Given the description of an element on the screen output the (x, y) to click on. 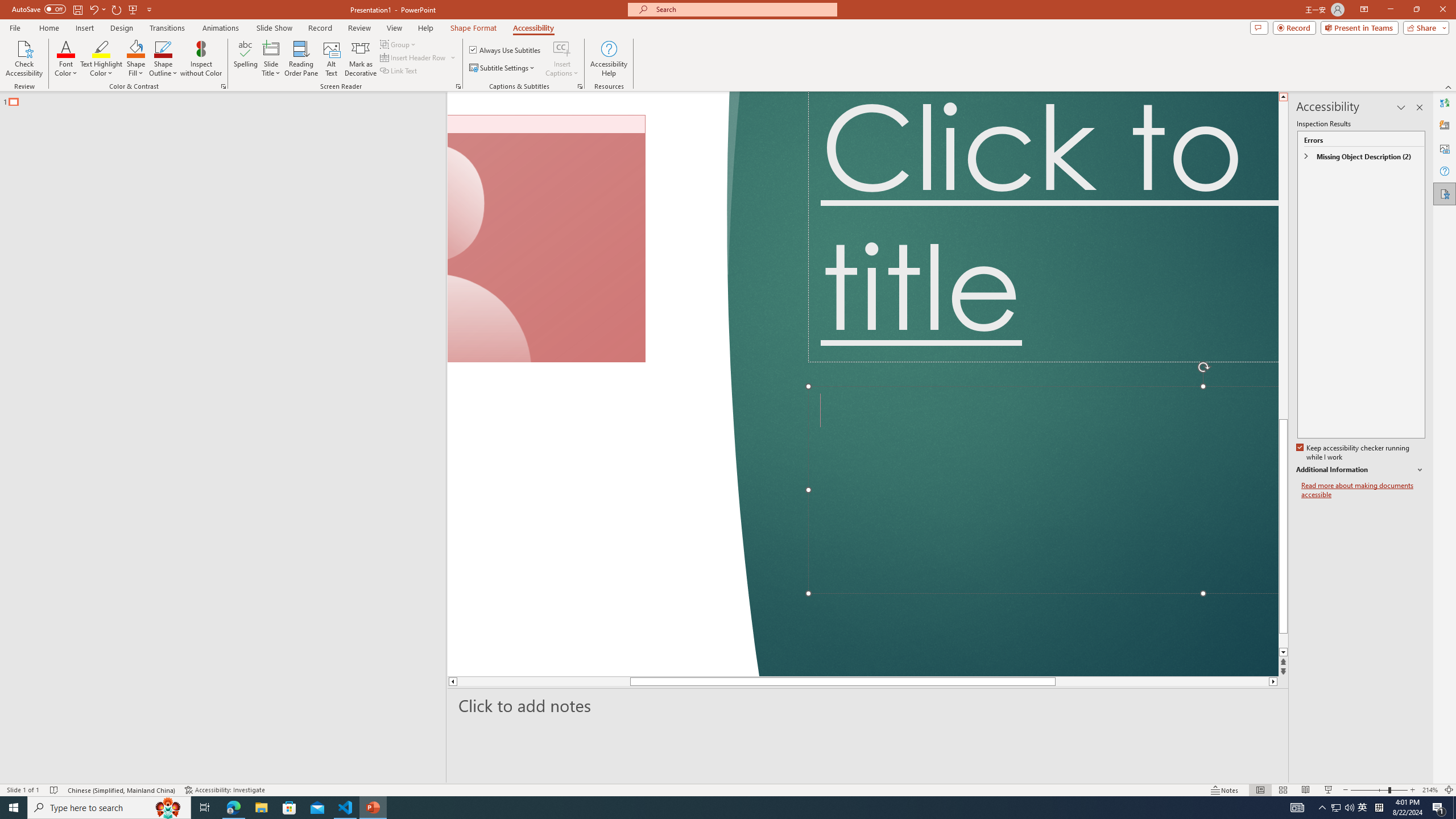
Alt Text (331, 58)
Group (398, 44)
Camera 7, No camera detected. (546, 238)
Zoom 214% (1430, 790)
